Given the description of an element on the screen output the (x, y) to click on. 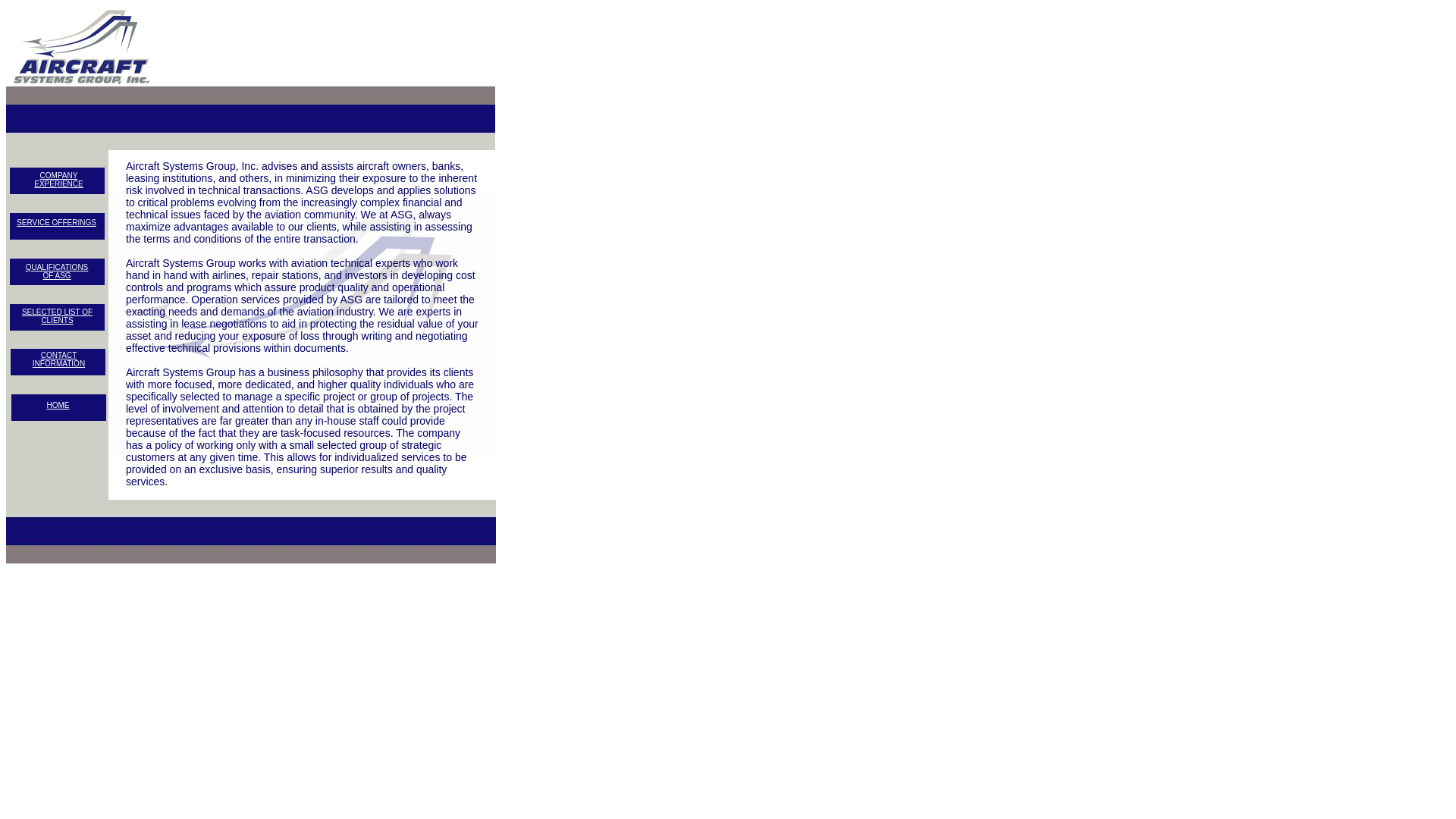
SERVICE OFFERINGS (58, 359)
HOME (56, 222)
SELECTED LIST OF CLIENTS (57, 179)
QUALIFICATIONS OF ASG (57, 405)
